Given the description of an element on the screen output the (x, y) to click on. 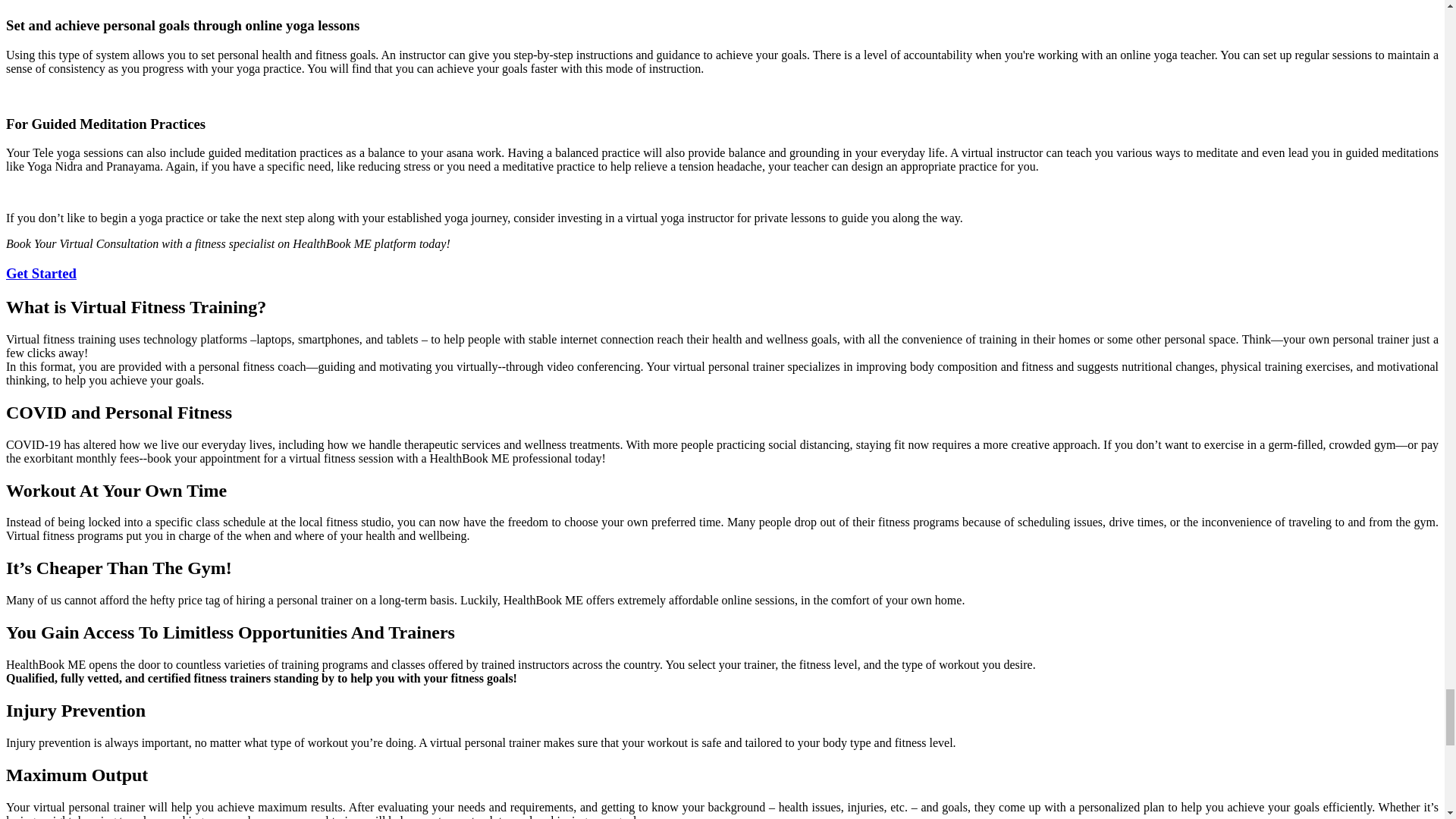
Get Started (41, 273)
